Given the description of an element on the screen output the (x, y) to click on. 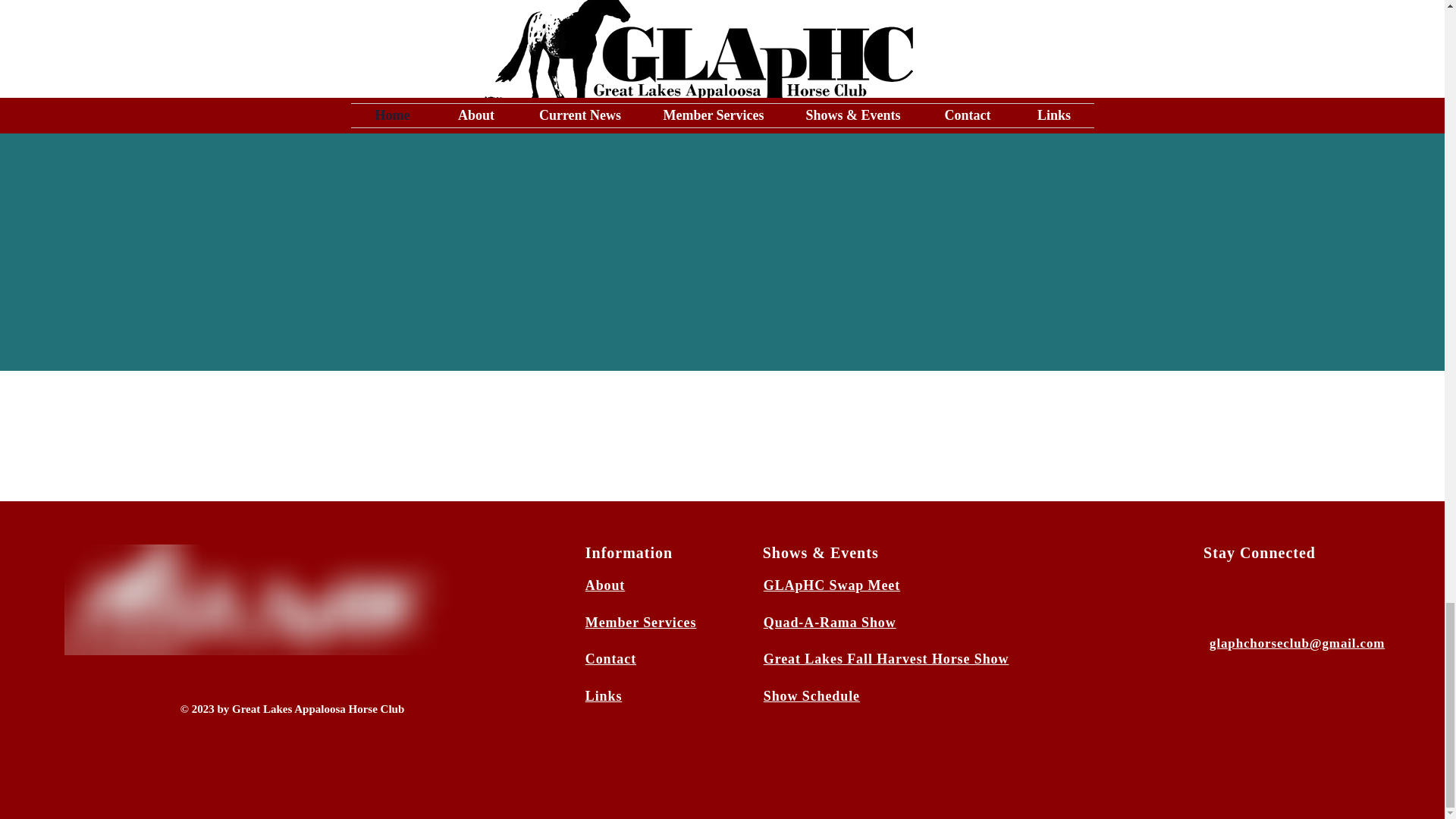
Quad-A-Rama Show (829, 622)
Show Schedule (811, 695)
Links (604, 695)
Contact (610, 658)
About (605, 585)
Member Services (641, 622)
Great Lakes Fall Harvest Horse Show (885, 658)
GLApHC Swap Meet (830, 585)
